Given the description of an element on the screen output the (x, y) to click on. 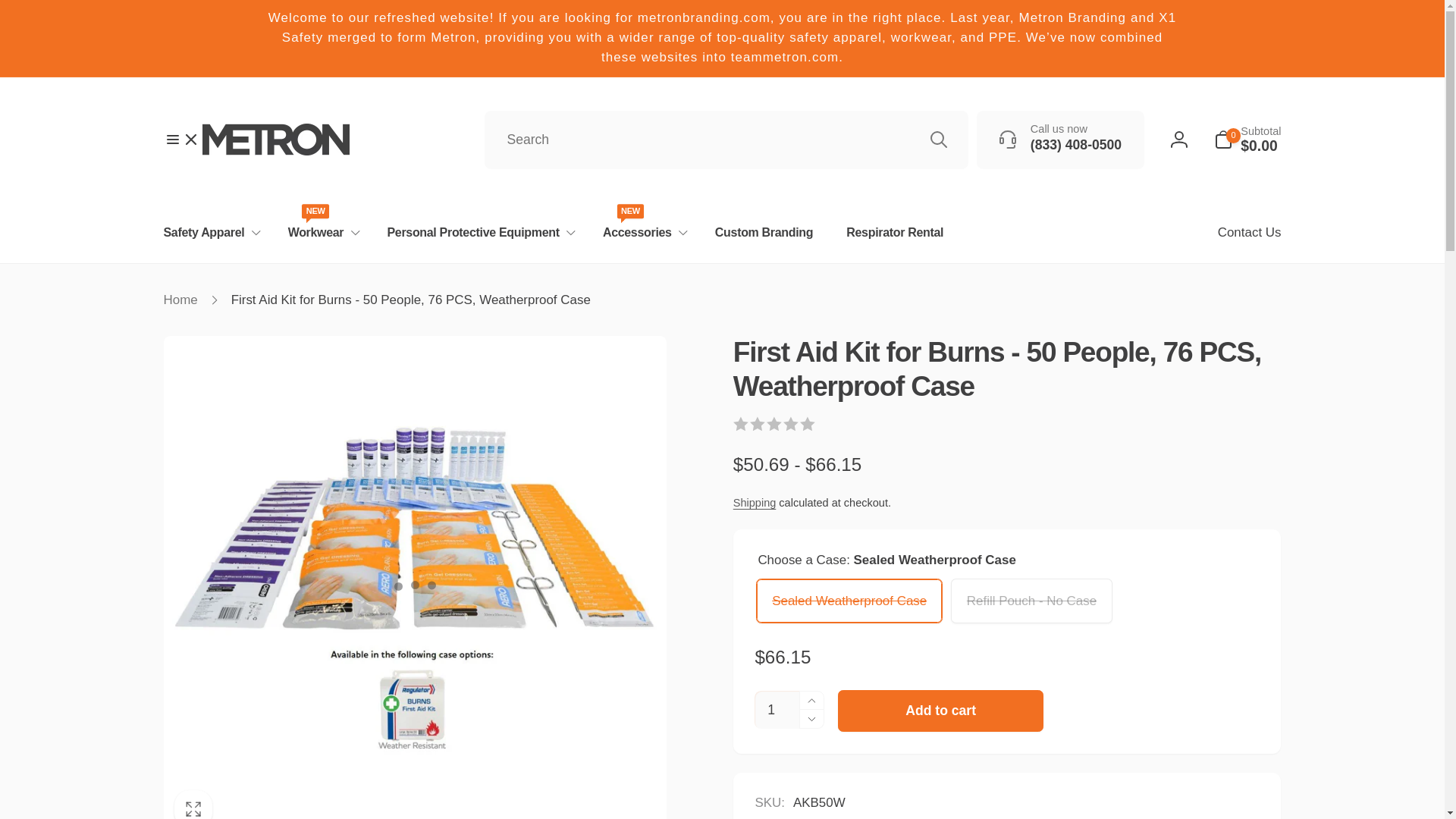
Skip to content (18, 9)
1 (775, 709)
